Given the description of an element on the screen output the (x, y) to click on. 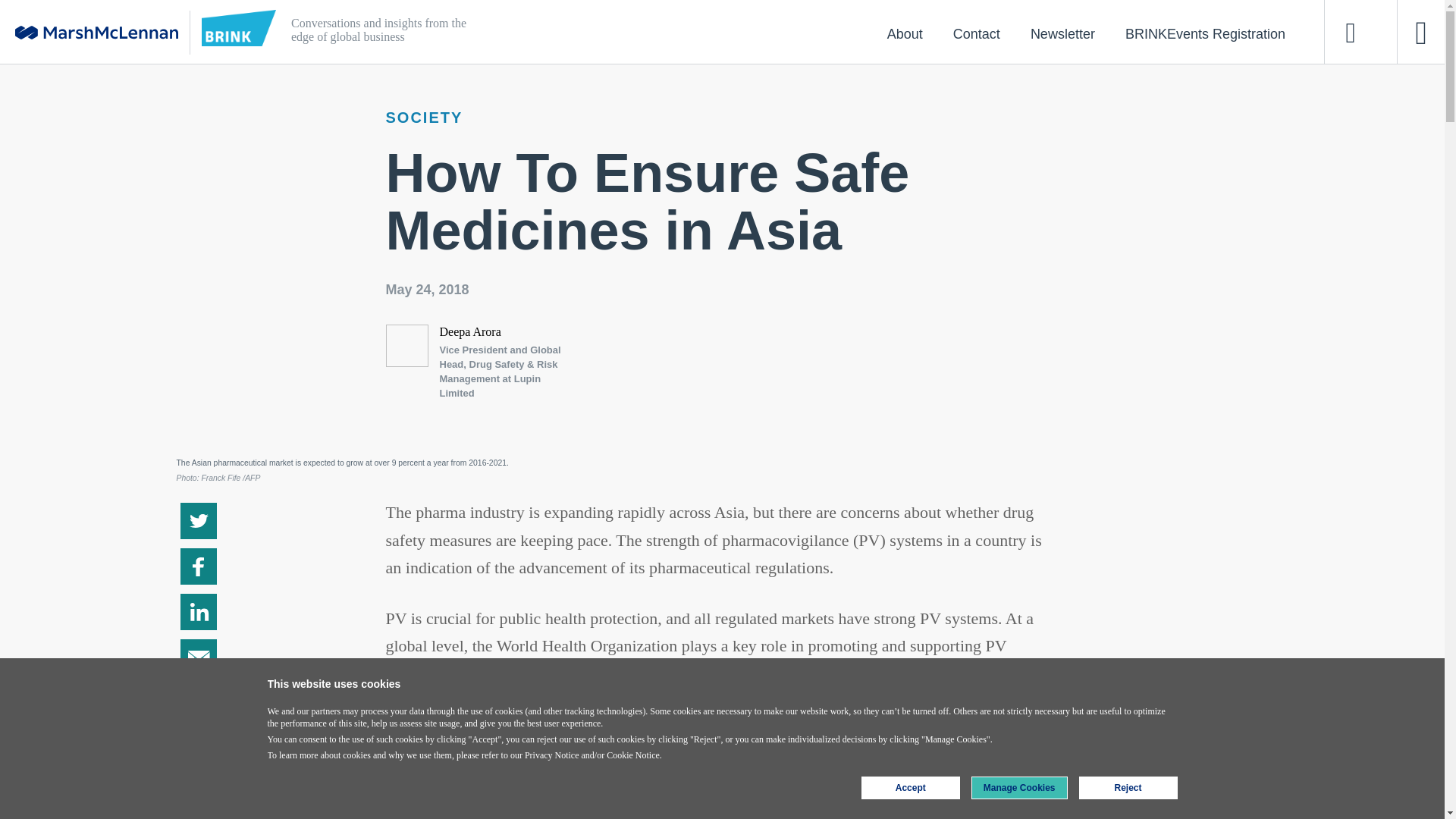
Conversations and insights from the edge of global business (653, 32)
Deepa Arora (469, 331)
About (904, 33)
BRINKEvents Registration (1204, 33)
SOCIETY (424, 117)
defines PV (983, 700)
Newsletter (1061, 33)
Contact (975, 33)
